Given the description of an element on the screen output the (x, y) to click on. 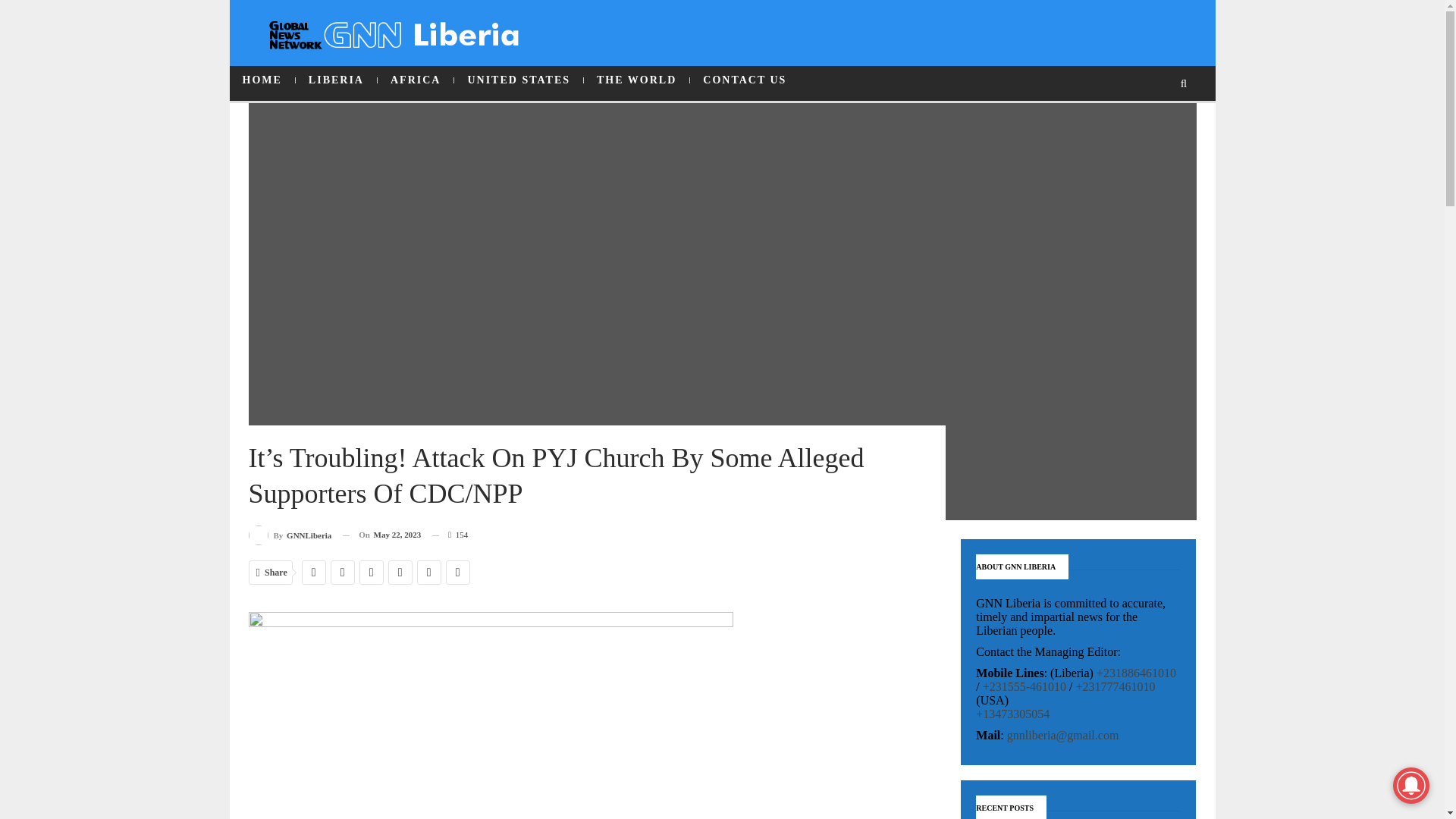
THE WORLD (635, 80)
CONTACT US (744, 80)
UNITED STATES (518, 80)
LIBERIA (336, 80)
HOME (261, 80)
By GNNLiberia (289, 534)
AFRICA (414, 80)
Browse Author Articles (289, 534)
